Given the description of an element on the screen output the (x, y) to click on. 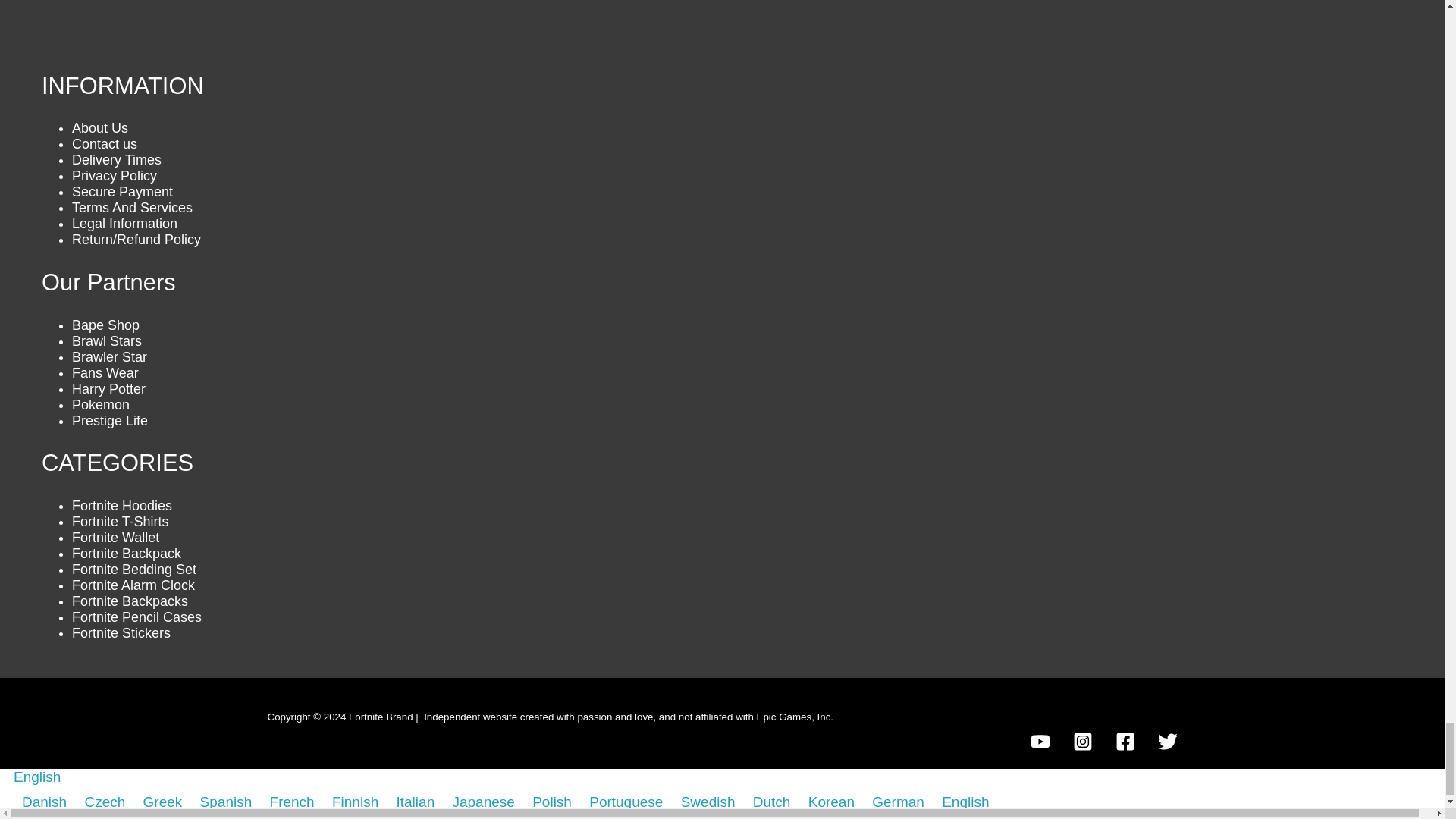
Italian (409, 801)
Greek (135, 801)
Spanish (193, 801)
Czech (99, 801)
French (262, 801)
Danish (38, 801)
Finnish (350, 801)
Czech (76, 801)
Danish (14, 801)
English (6, 777)
